Given the description of an element on the screen output the (x, y) to click on. 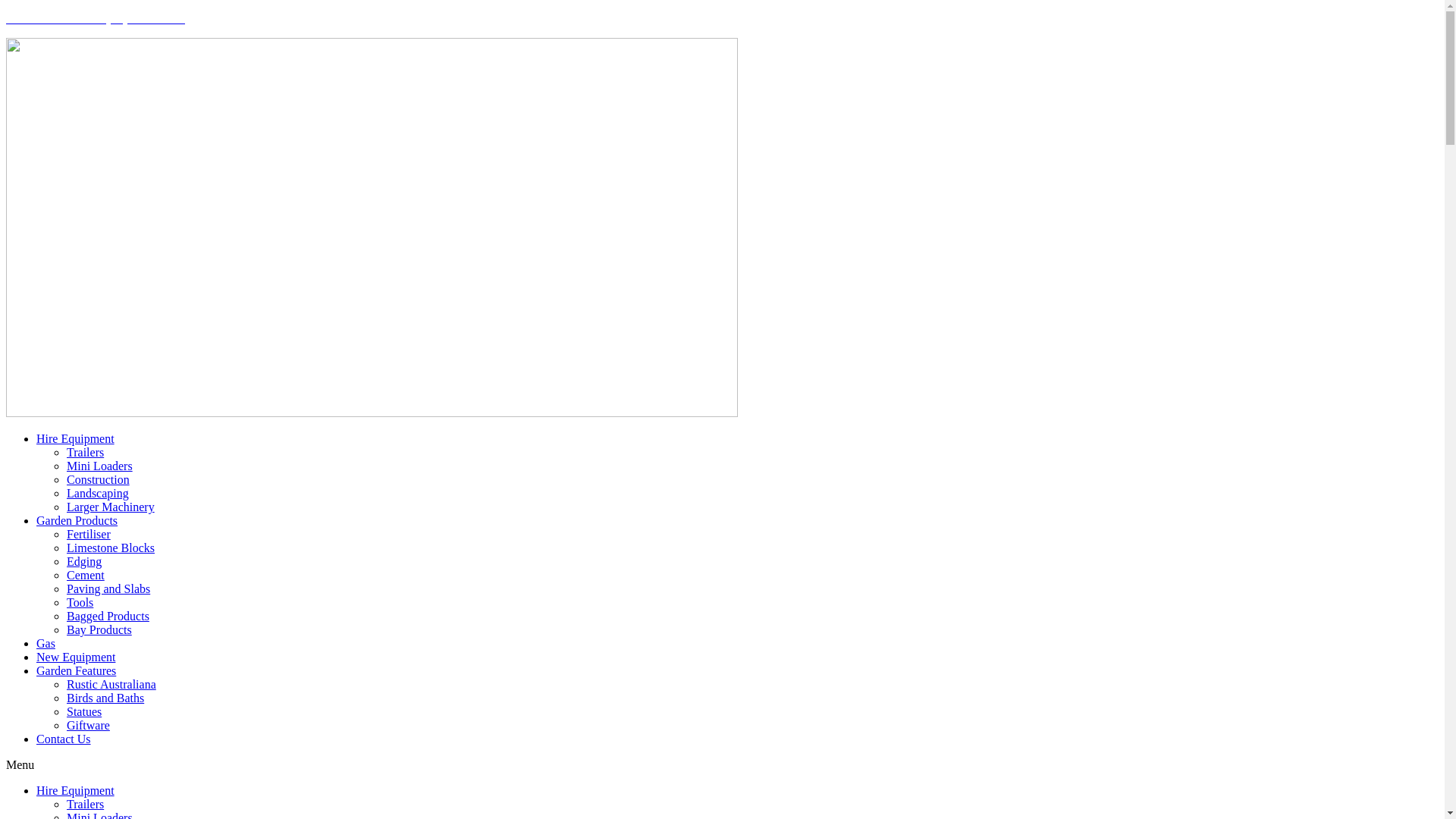
Garden Products Element type: text (76, 520)
Bay Products Element type: text (98, 629)
Paving and Slabs Element type: text (108, 588)
Gas Element type: text (45, 643)
Garden Features Element type: text (76, 670)
Limestone Blocks Element type: text (110, 547)
Trailers Element type: text (84, 451)
Cement Element type: text (85, 574)
Trailers Element type: text (84, 803)
Fertiliser Element type: text (88, 533)
Hire Equipment Element type: text (75, 438)
Landscaping Element type: text (97, 492)
Giftware Element type: text (87, 724)
Hire Equipment Element type: text (75, 790)
Statues Element type: text (83, 711)
Larger Machinery Element type: text (110, 506)
Mini Loaders Element type: text (99, 465)
New Equipment Element type: text (75, 656)
Construction Element type: text (97, 479)
Rustic Australiana Element type: text (111, 683)
Bagged Products Element type: text (107, 615)
Birds and Baths Element type: text (105, 697)
CALL US TODAY (08) 95255480 Element type: text (722, 18)
Edging Element type: text (83, 561)
Contact Us Element type: text (63, 738)
Tools Element type: text (79, 602)
